Given the description of an element on the screen output the (x, y) to click on. 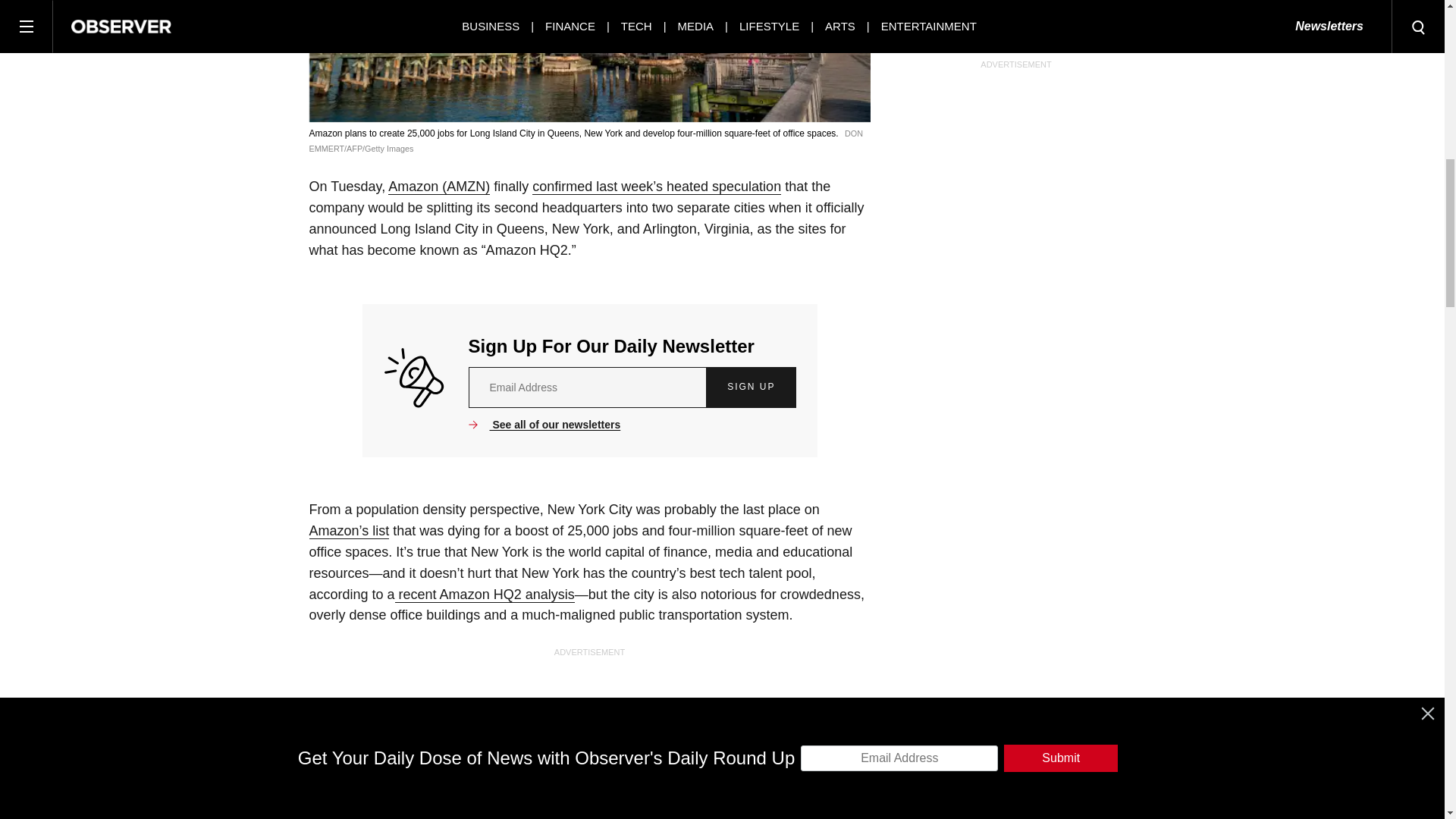
Amazon (438, 186)
